Given the description of an element on the screen output the (x, y) to click on. 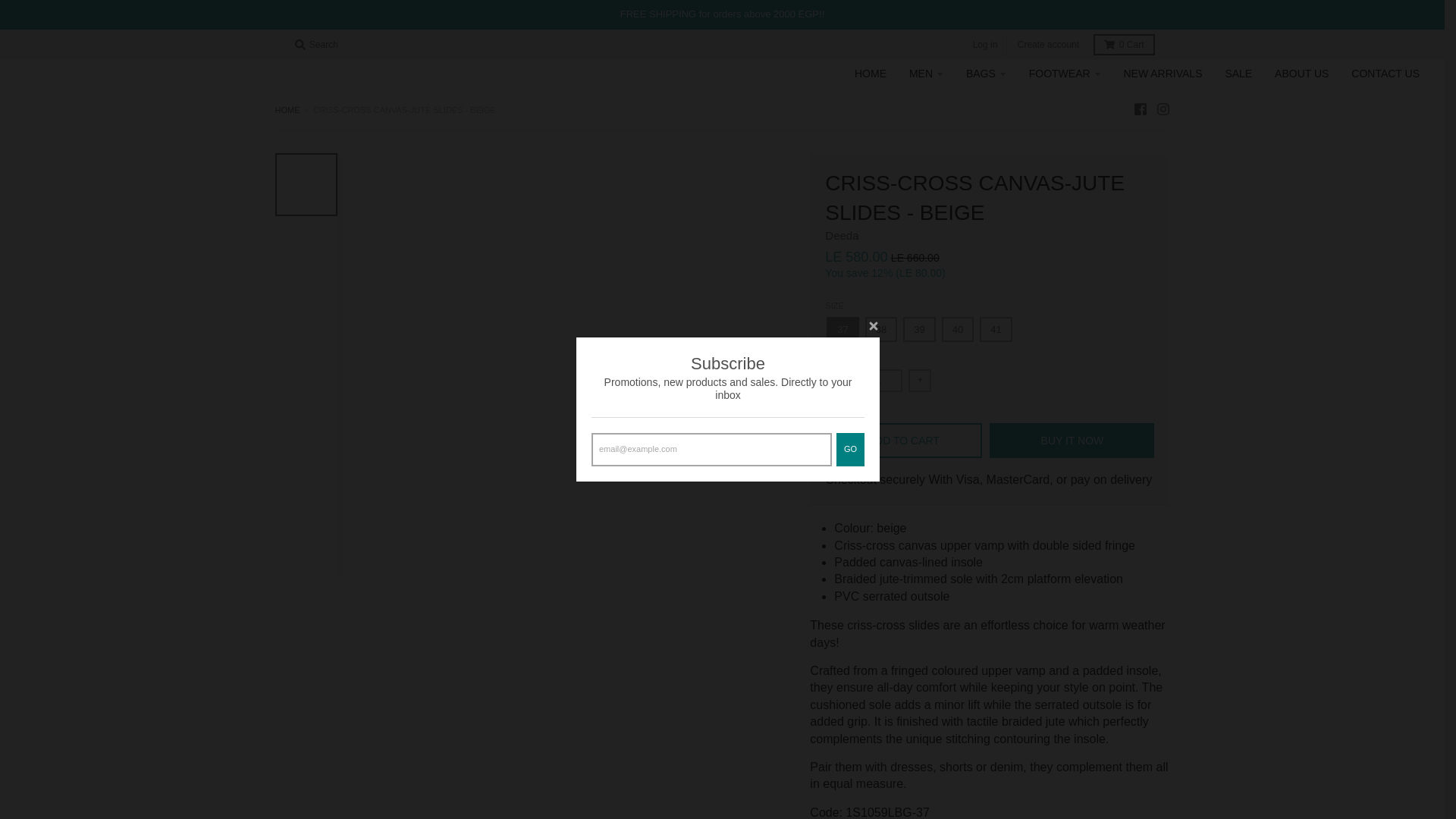
Search (315, 44)
39 (918, 329)
BAGS (986, 72)
Instagram - Deeda  (1162, 109)
HOME (870, 72)
Facebook - Deeda  (1139, 109)
41 (995, 329)
40 (958, 329)
SALE (1238, 72)
37 (843, 329)
Deeda (842, 235)
38 (880, 329)
MEN (926, 72)
Create account (1048, 45)
